Given the description of an element on the screen output the (x, y) to click on. 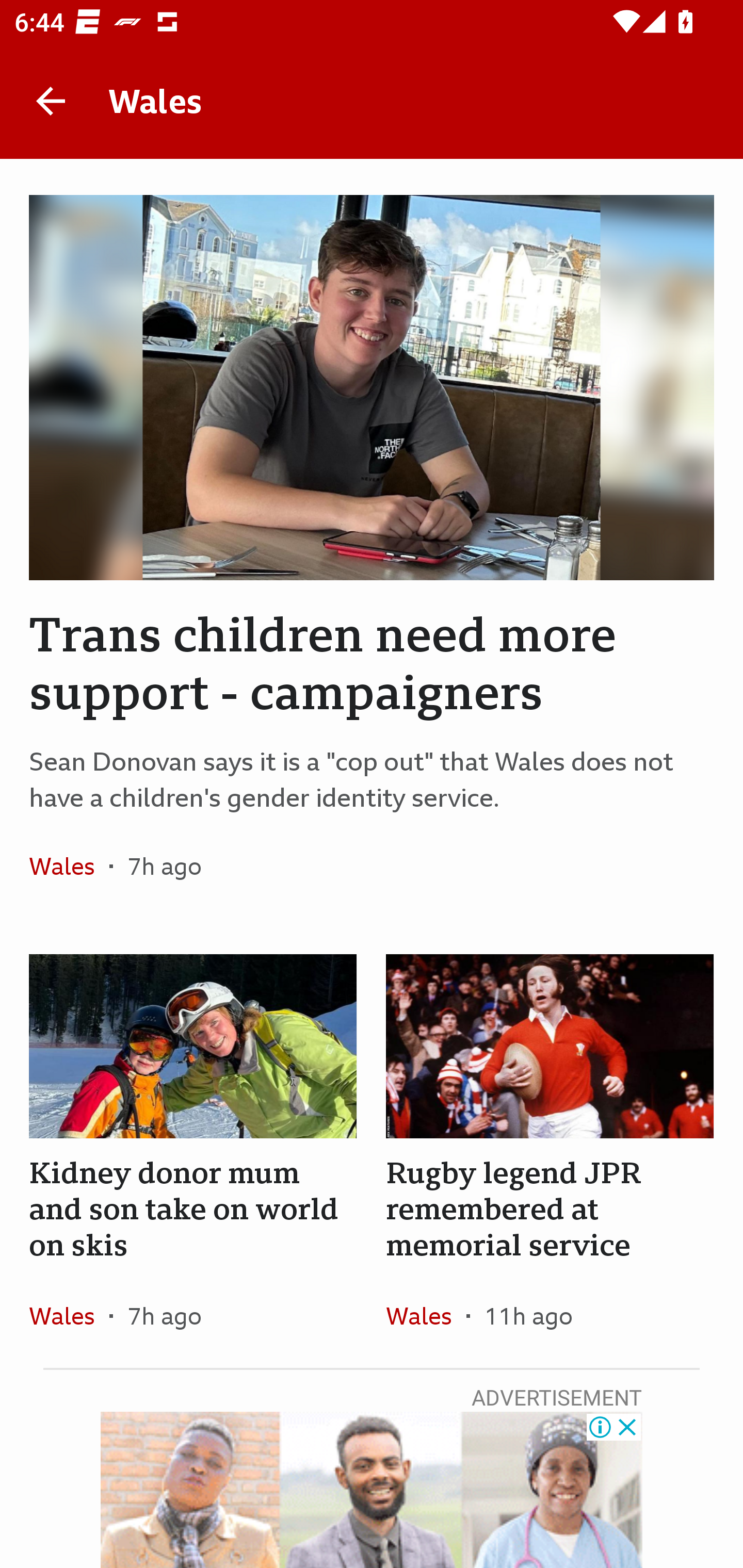
Back (50, 101)
Wales In the section Wales (68, 865)
Wales In the section Wales (68, 1315)
Wales In the section Wales (425, 1315)
Advertisement (371, 1489)
